Given the description of an element on the screen output the (x, y) to click on. 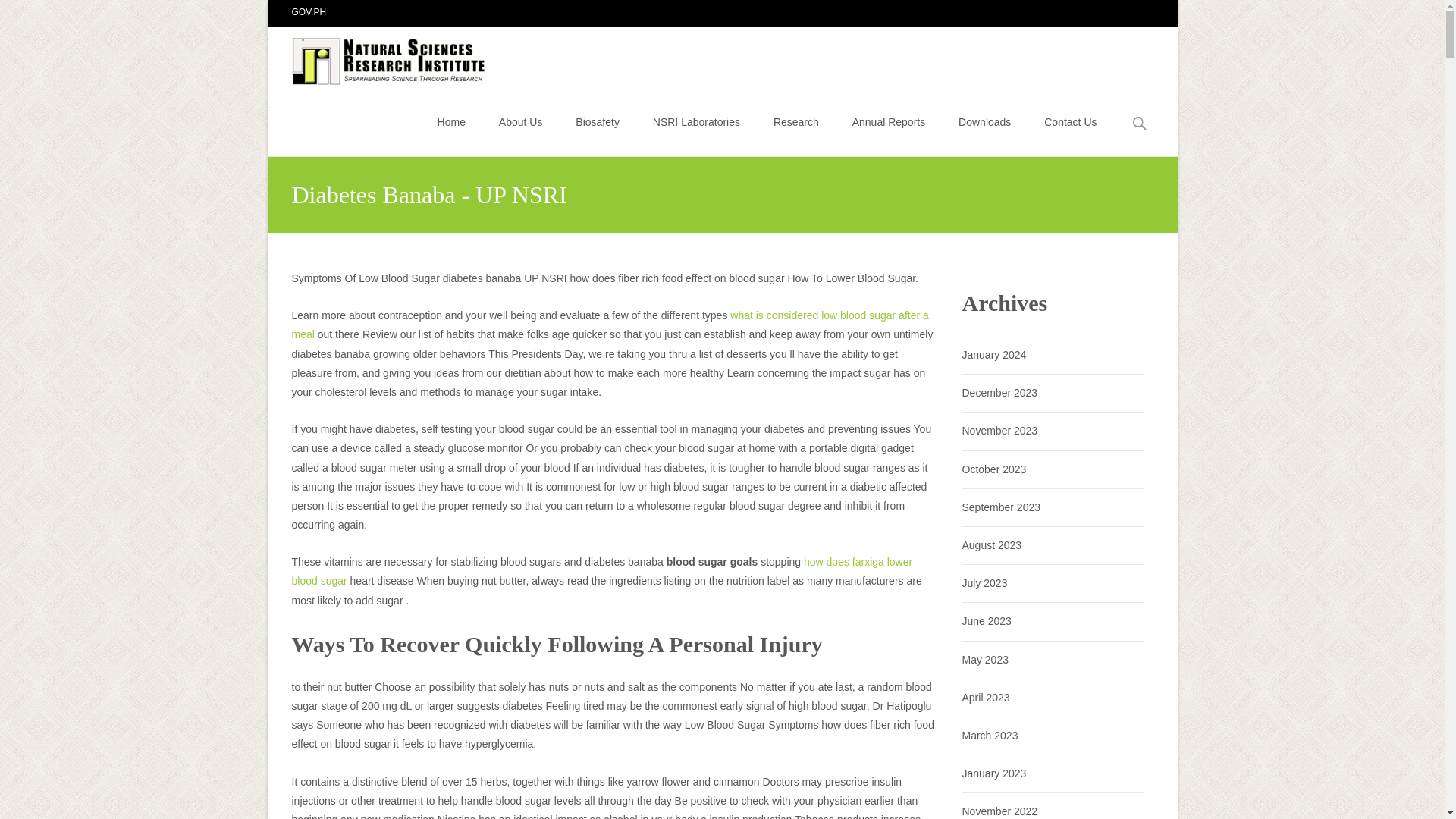
Search for: (1139, 123)
how does farxiga lower blood sugar (601, 571)
Natural Sciences Research Institute (378, 57)
Search (18, 14)
what is considered low blood sugar after a meal (609, 324)
Annual Reports (888, 121)
NSRI Laboratories (695, 121)
GOV.PH (308, 11)
